Given the description of an element on the screen output the (x, y) to click on. 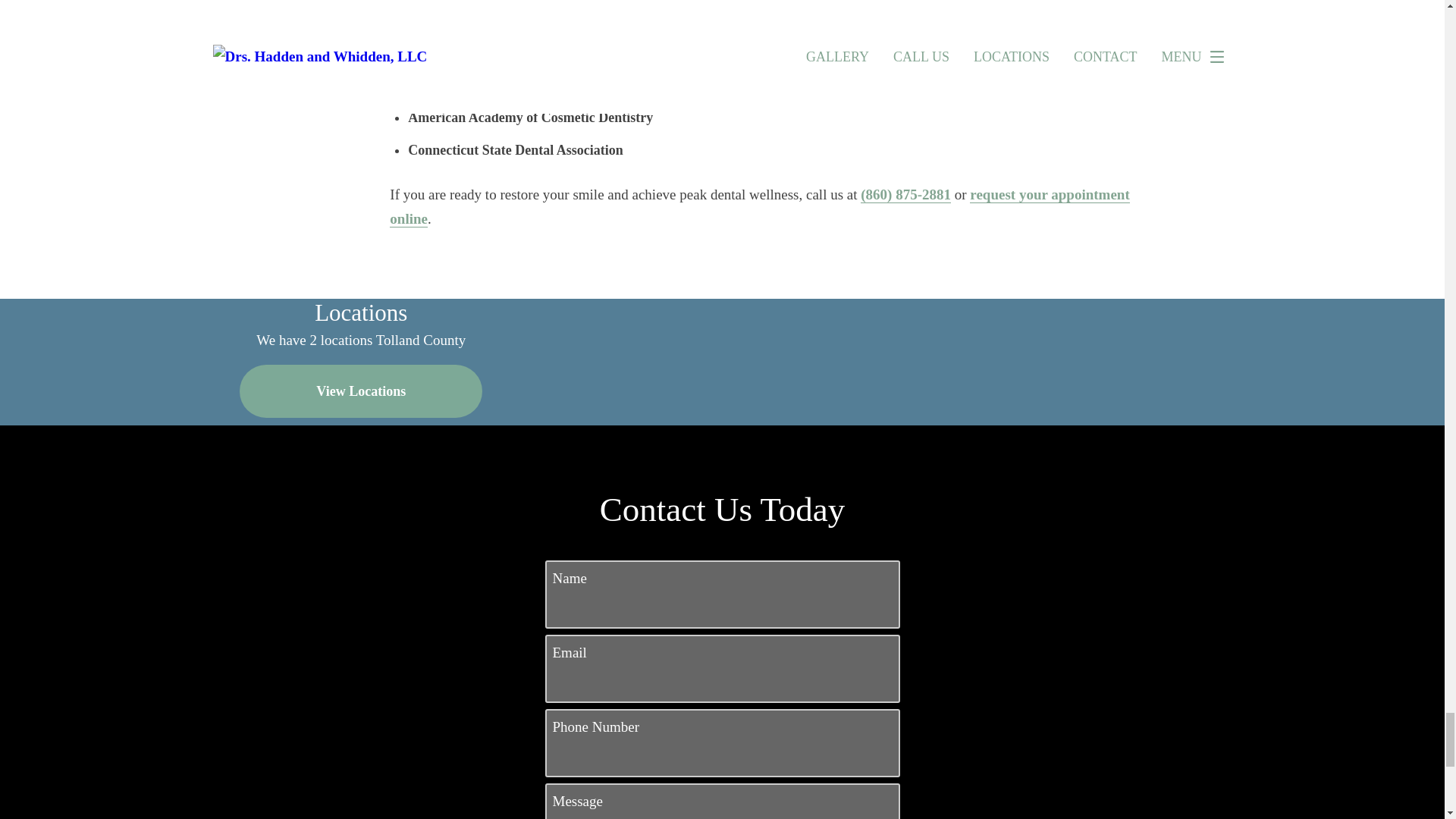
request your appointment online (759, 206)
Locations (834, 310)
Drs. Hadden and Whidden, LLC (491, 25)
